Given the description of an element on the screen output the (x, y) to click on. 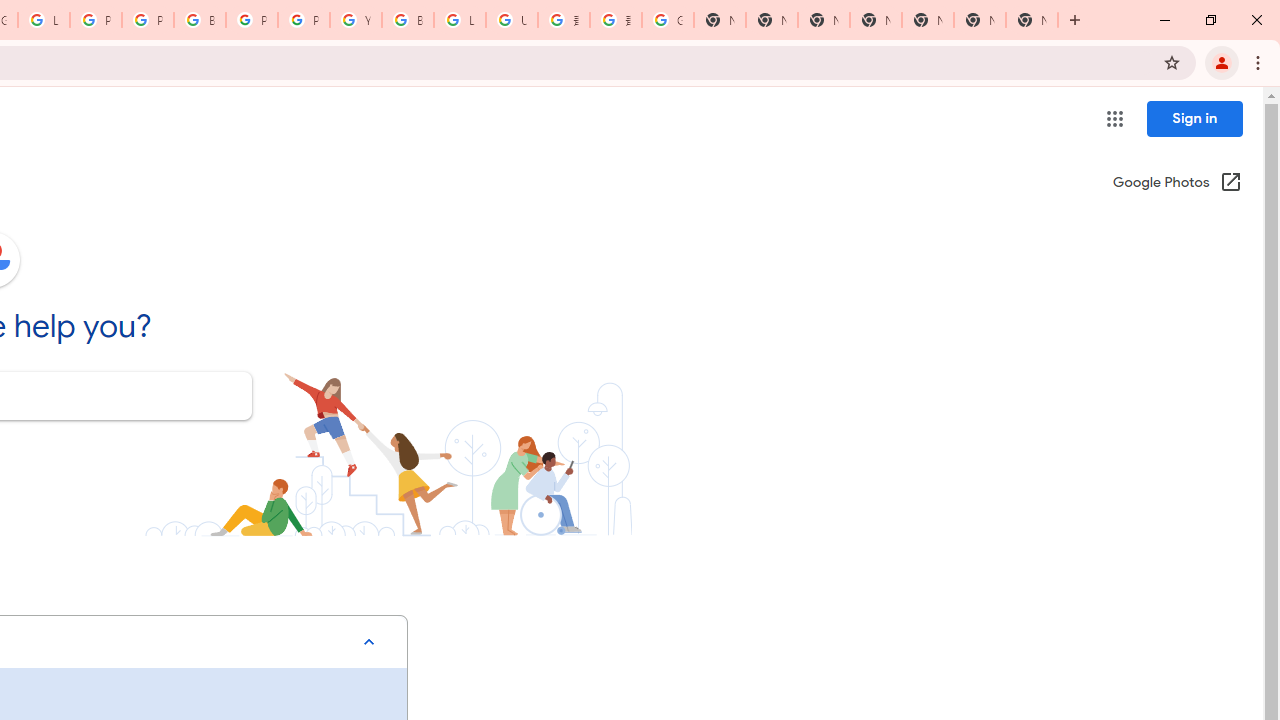
Google Photos (Open in a new window) (1177, 183)
